Given the description of an element on the screen output the (x, y) to click on. 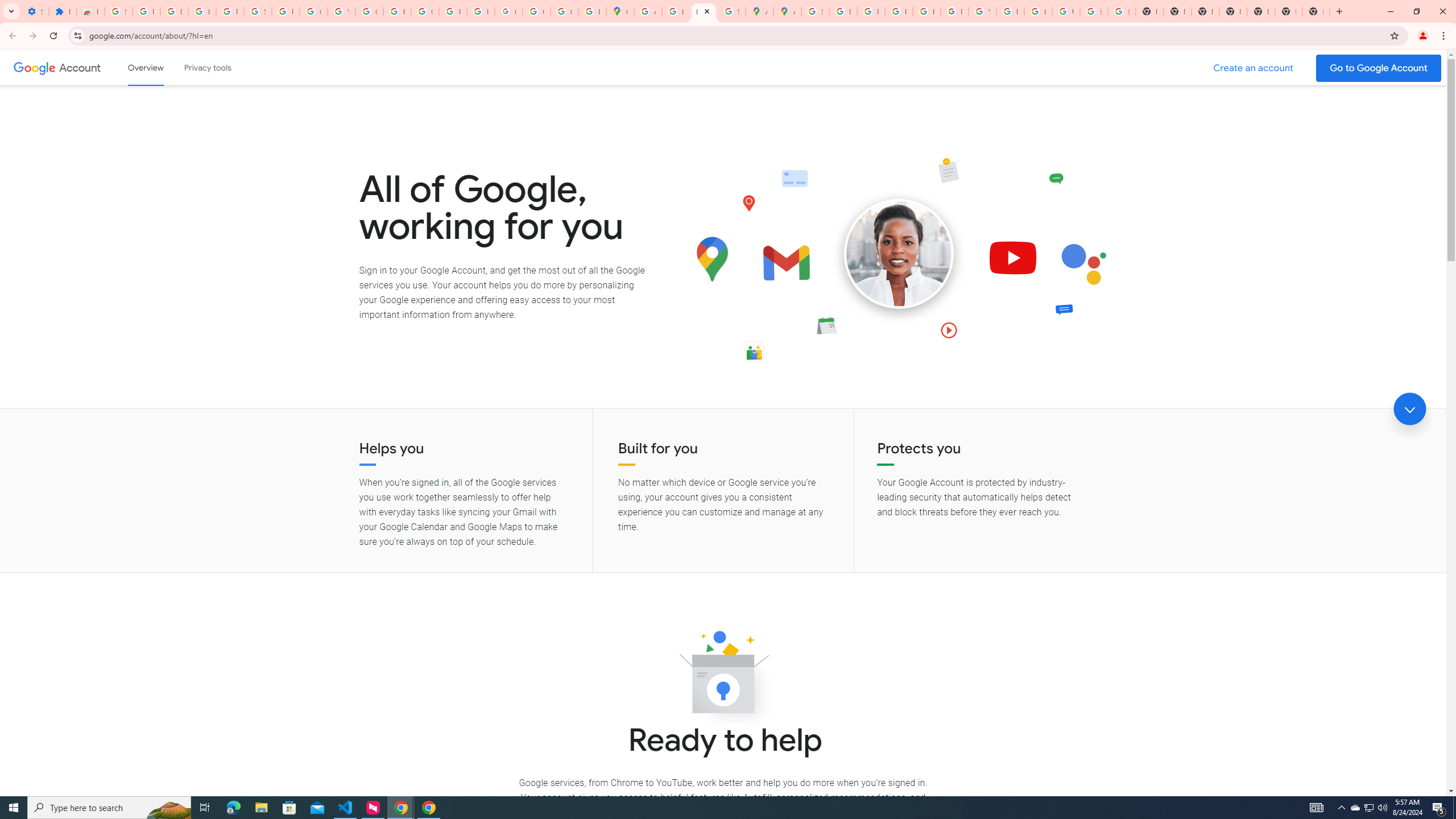
Delete photos & videos - Computer - Google Photos Help (174, 11)
New Tab (1233, 11)
Google Account (313, 11)
Sign in - Google Accounts (118, 11)
Jump link (1409, 408)
Go to your Google Account (1378, 67)
Google Account overview (145, 67)
